Given the description of an element on the screen output the (x, y) to click on. 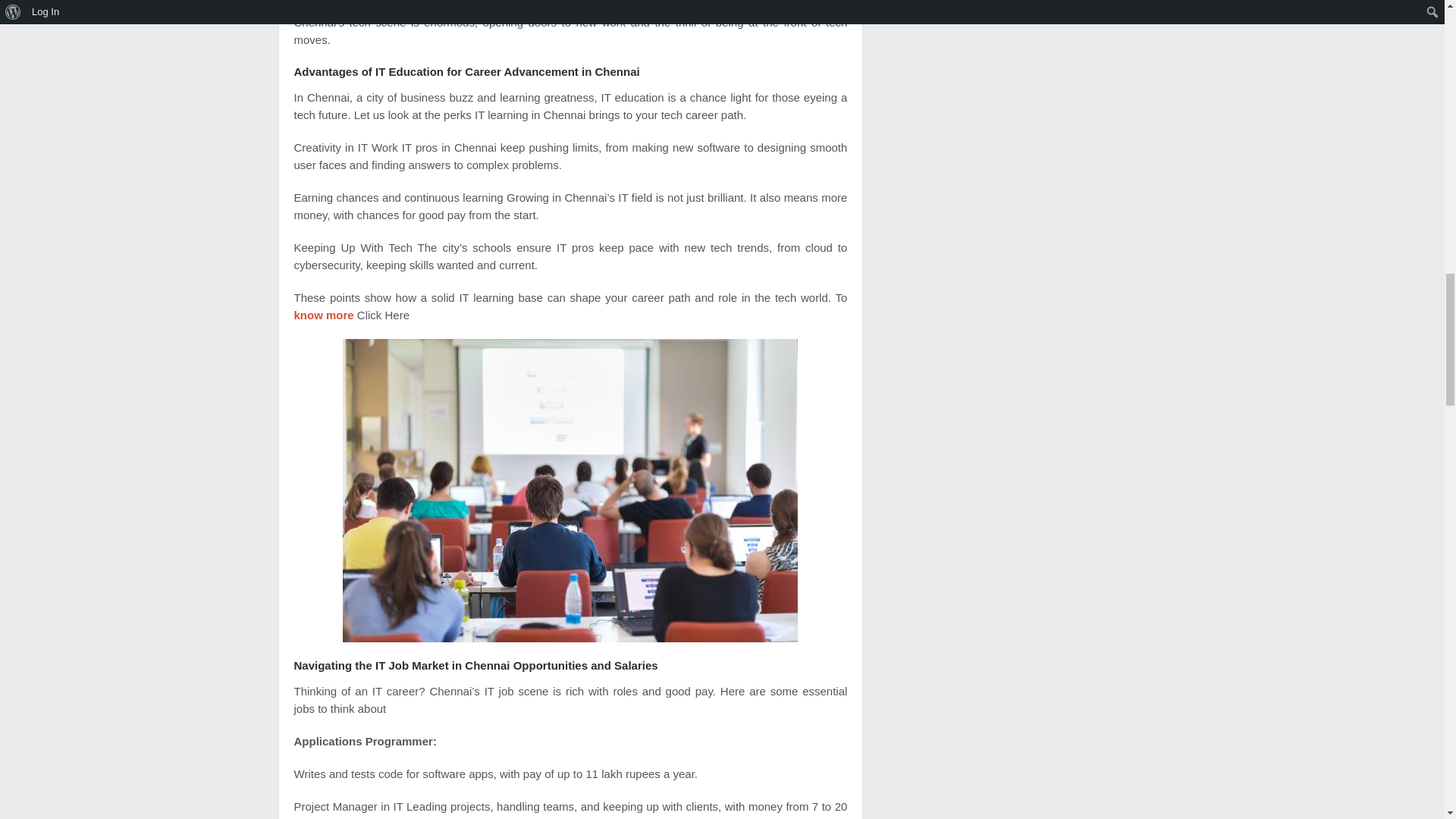
know more (323, 314)
